Given the description of an element on the screen output the (x, y) to click on. 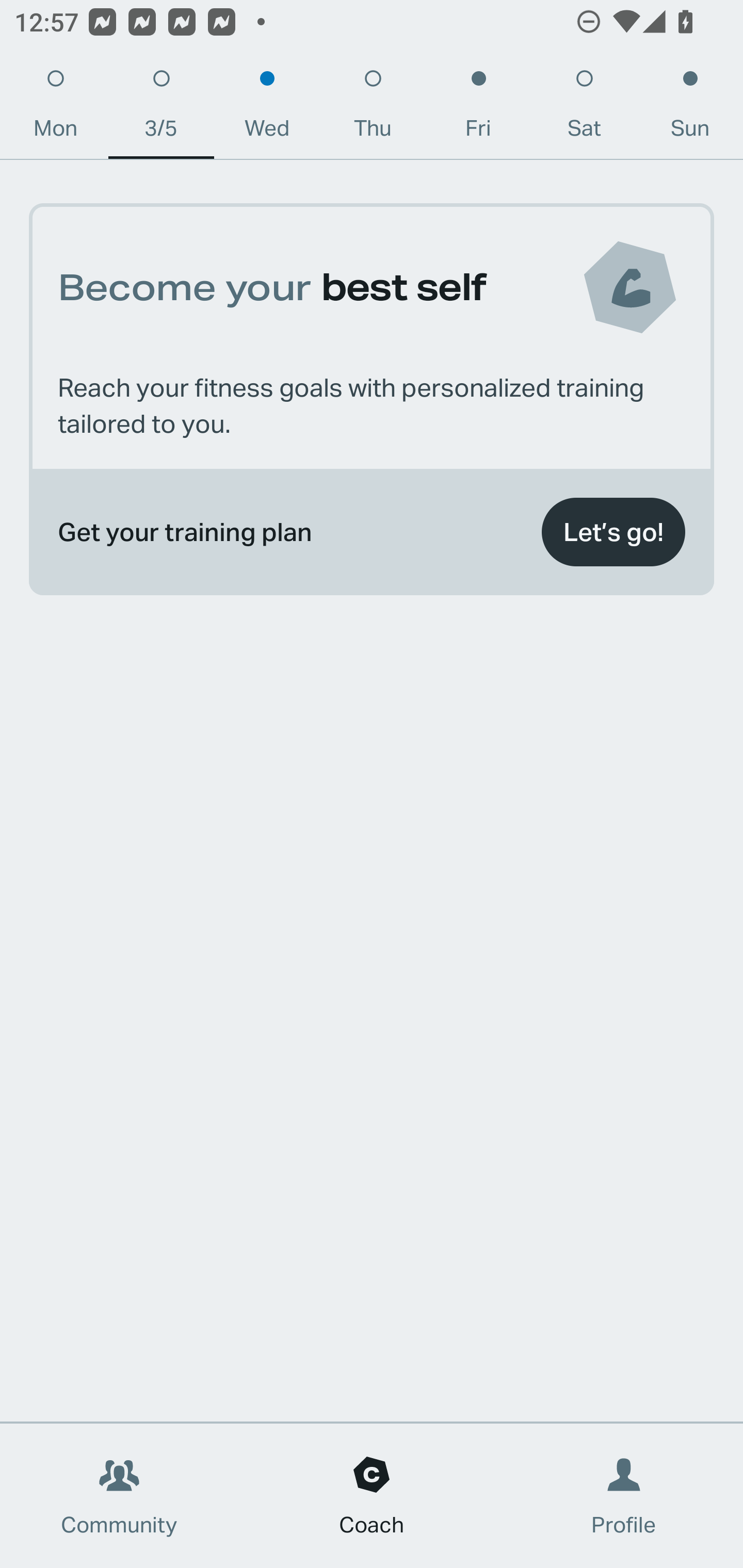
Mon (55, 108)
3/5 (160, 108)
Wed (266, 108)
Thu (372, 108)
Fri (478, 108)
Sat (584, 108)
Sun (690, 108)
Let’s go! (613, 532)
Community (119, 1495)
Profile (624, 1495)
